Given the description of an element on the screen output the (x, y) to click on. 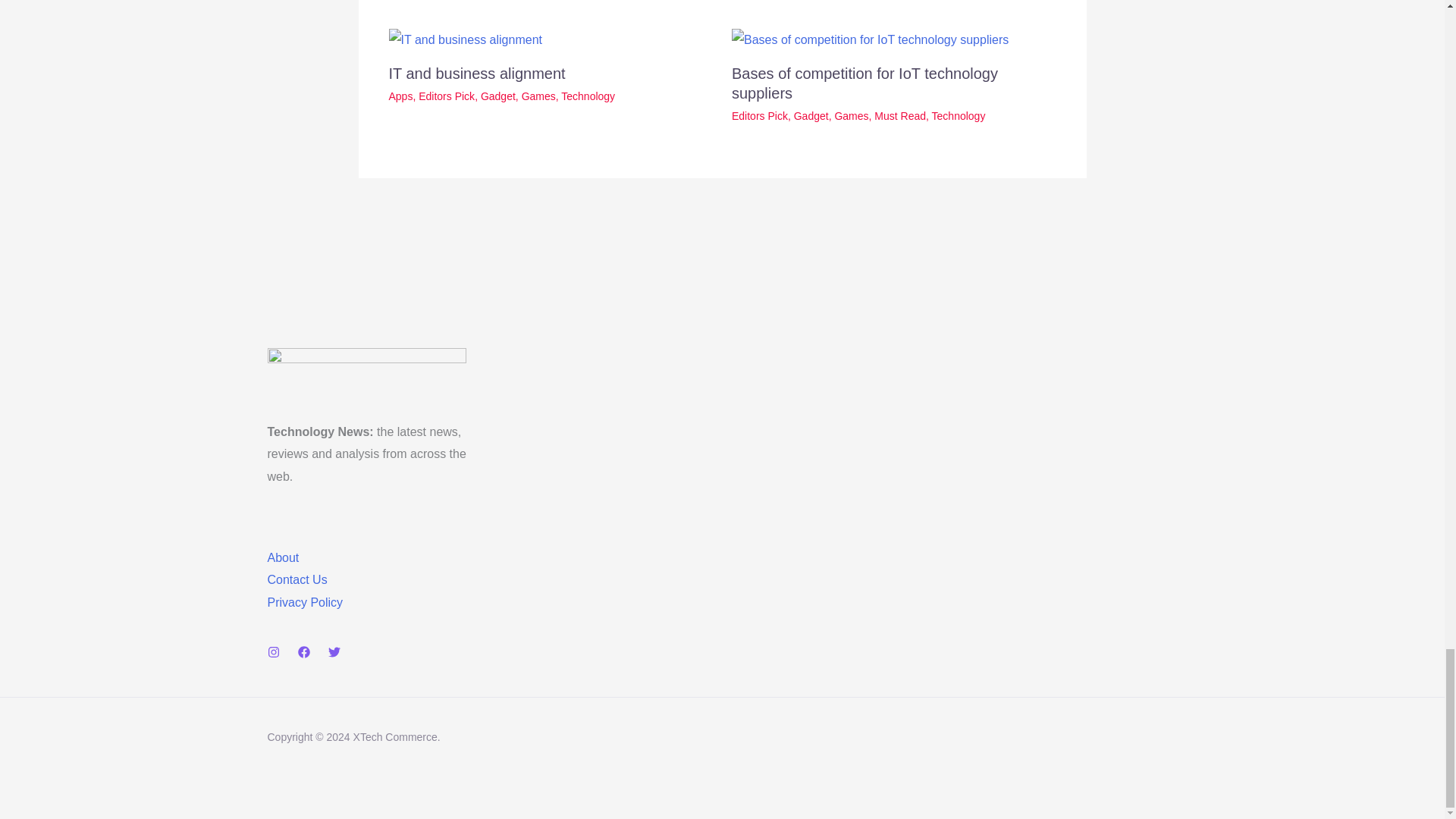
Apps (400, 96)
Editors Pick (446, 96)
Gadget (497, 96)
IT and business alignment (476, 73)
